Given the description of an element on the screen output the (x, y) to click on. 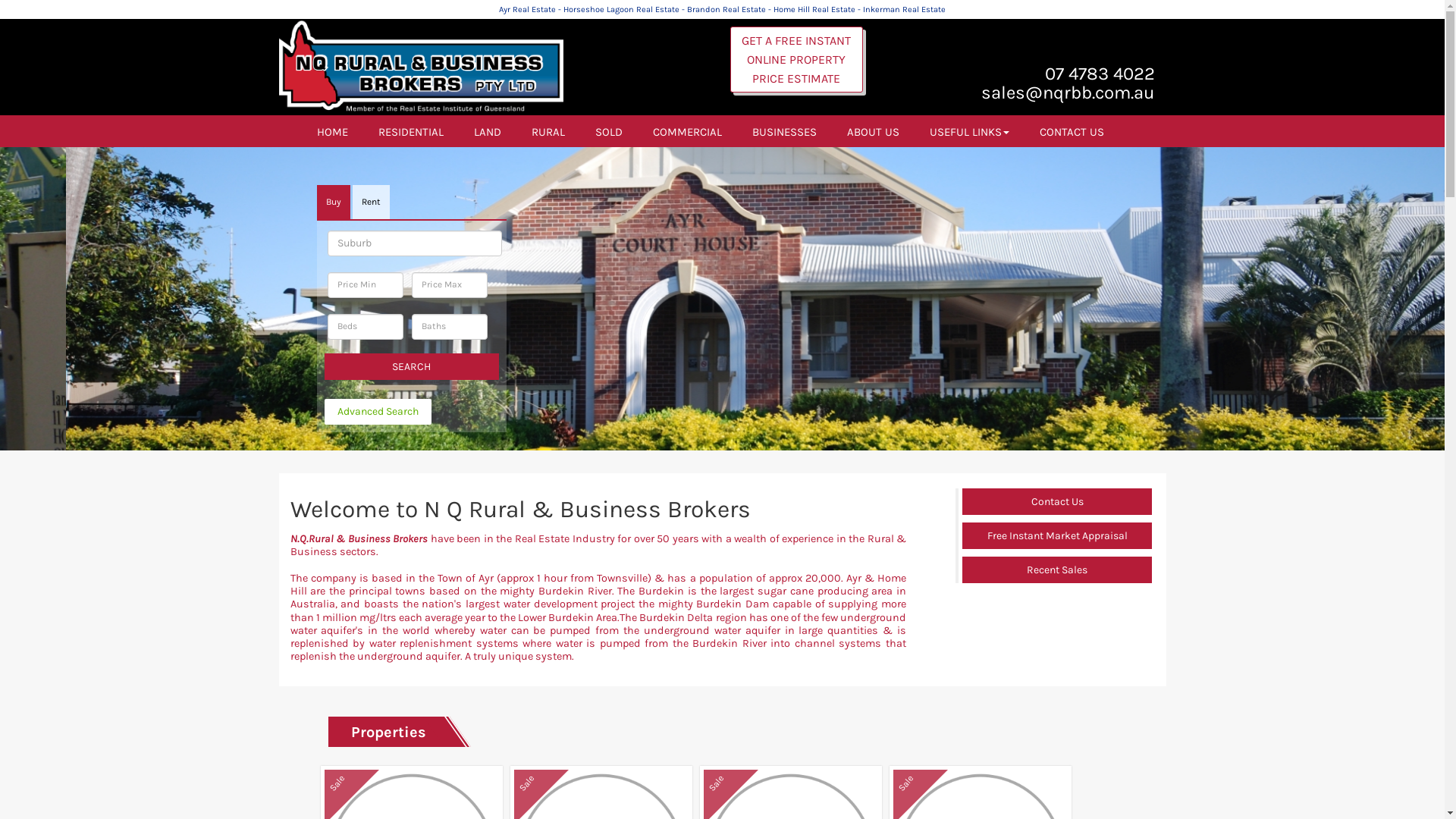
ABOUT US Element type: text (872, 131)
Buy Element type: text (333, 202)
Advanced Search Element type: text (377, 411)
07 4783 4022 Element type: text (1099, 73)
RESIDENTIAL Element type: text (410, 131)
LAND Element type: text (486, 131)
Recent Sales Element type: text (1056, 569)
GET A FREE INSTANT ONLINE PROPERTY PRICE ESTIMATE Element type: text (795, 59)
CONTACT US Element type: text (1070, 131)
N Q Rural & Business Brokers Logo Element type: hover (421, 66)
SOLD Element type: text (608, 131)
USEFUL LINKS Element type: text (969, 131)
Rent Element type: text (370, 202)
Free Instant Market Appraisal Element type: text (1056, 535)
COMMERCIAL Element type: text (686, 131)
Contact Us Element type: text (1056, 501)
HOME Element type: text (332, 131)
RURAL Element type: text (547, 131)
sales@nqrbb.com.au Element type: text (1067, 92)
SEARCH Element type: text (411, 366)
BUSINESSES Element type: text (784, 131)
